Given the description of an element on the screen output the (x, y) to click on. 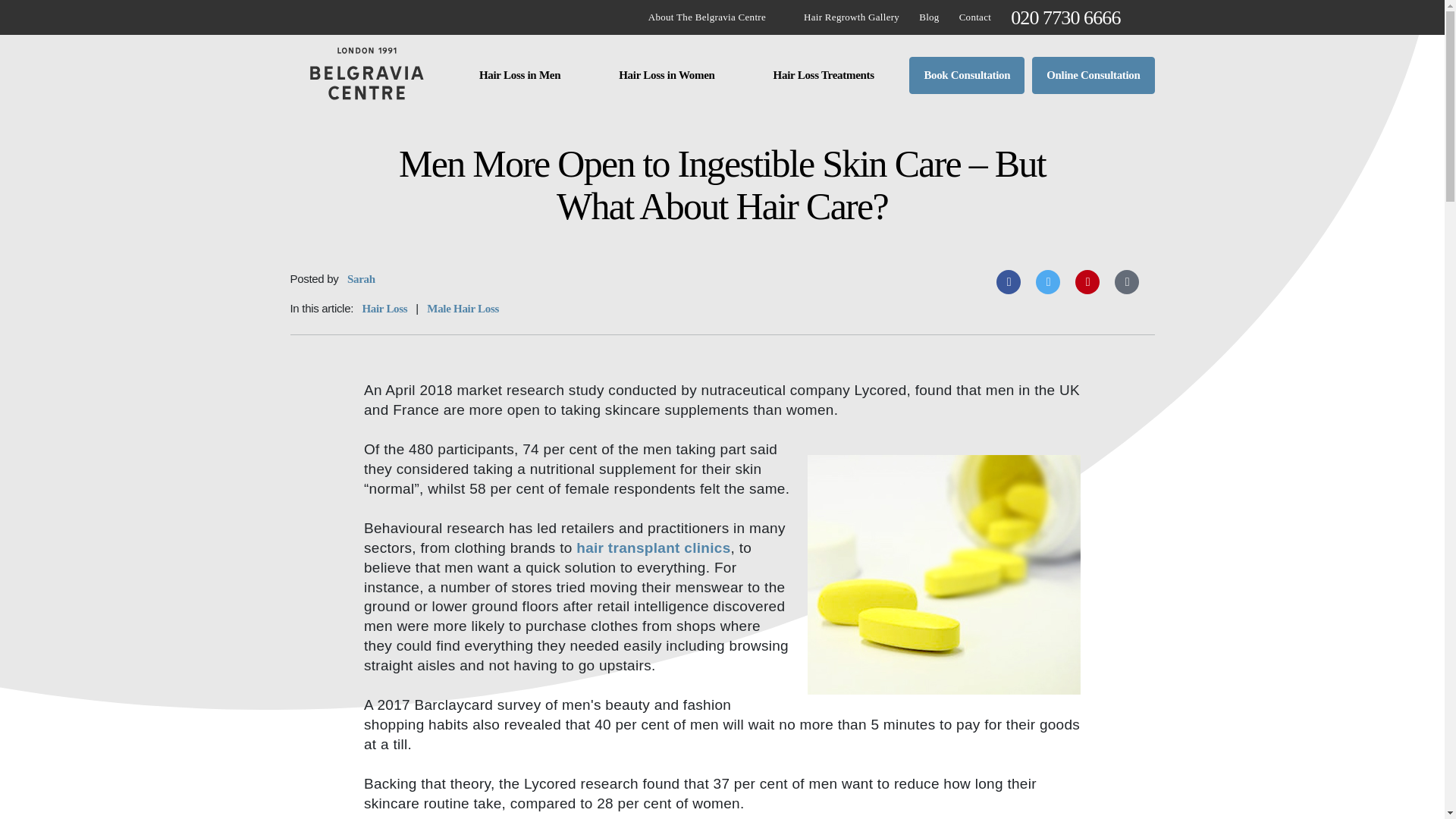
Hair Loss in Men (519, 75)
Hair Loss Treatments (824, 75)
Hair Regrowth Gallery (851, 17)
Online Consultation (1093, 75)
020 7730 6666 (1064, 17)
Belgravia Centre (366, 75)
About The Belgravia Centre (706, 17)
About The Belgravia Centre (706, 17)
Hair Regrowth Gallery (851, 17)
search (1141, 16)
